Given the description of an element on the screen output the (x, y) to click on. 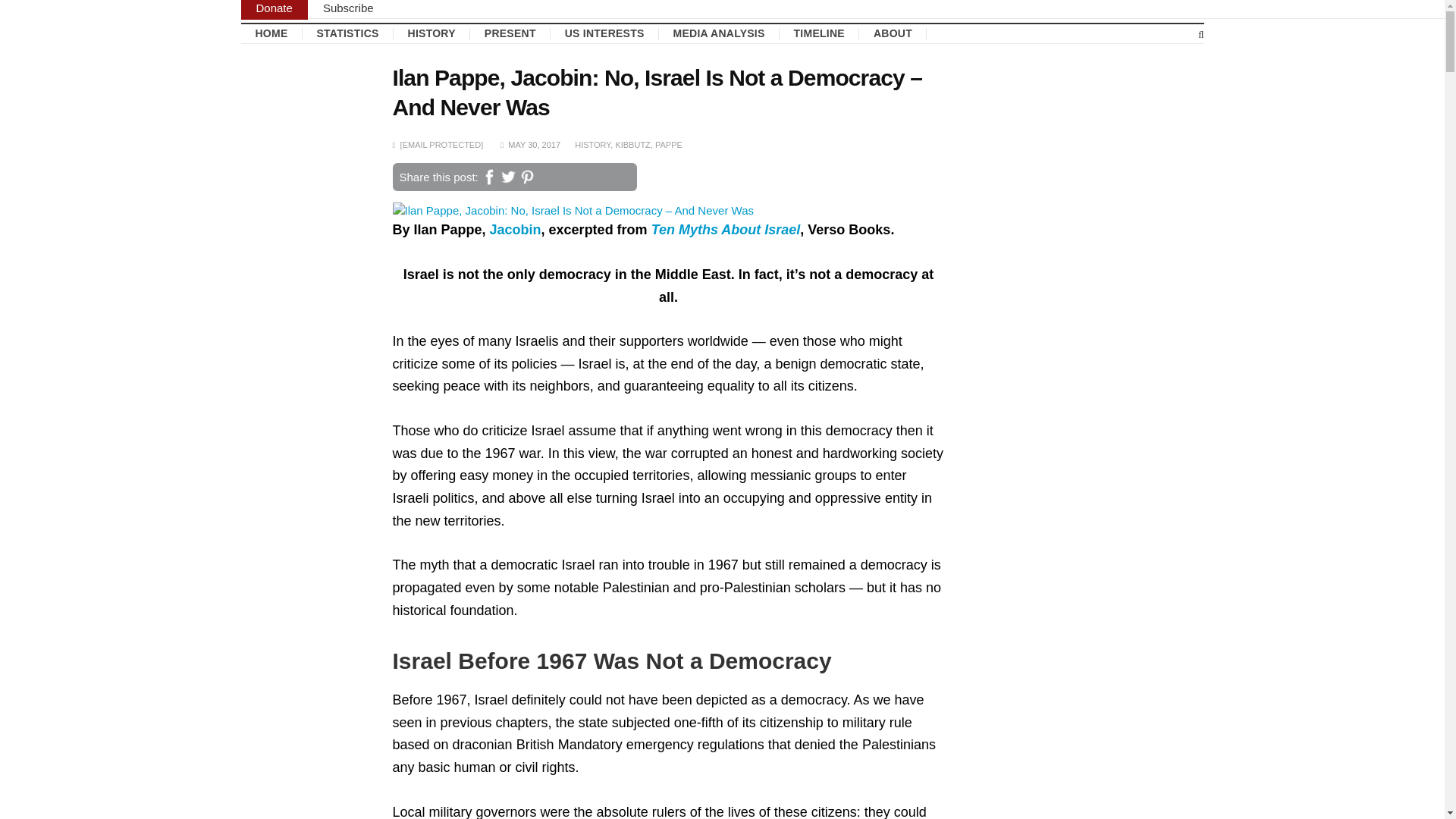
PAPPE (668, 143)
HOME (272, 33)
US INTERESTS (603, 33)
Jacobin (515, 229)
HISTORY (592, 143)
Tuesday, May 30, 2017, 7:18 am (534, 143)
TIMELINE (819, 33)
ABOUT (892, 33)
Subscribe (347, 8)
STATISTICS (346, 33)
MEDIA ANALYSIS (718, 33)
Ten Myths About Israel (725, 229)
HISTORY (431, 33)
KIBBUTZ (631, 143)
PRESENT (510, 33)
